Given the description of an element on the screen output the (x, y) to click on. 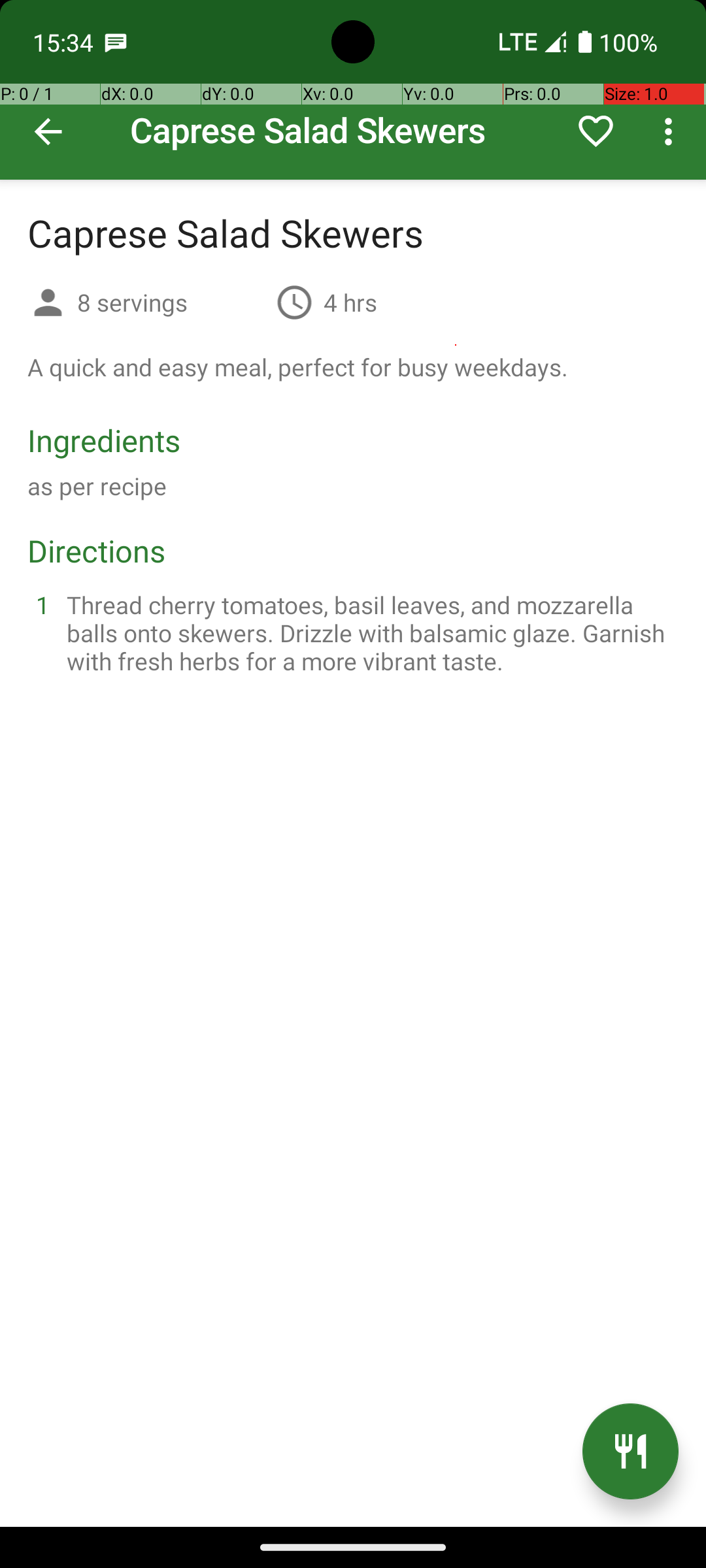
Thread cherry tomatoes, basil leaves, and mozzarella balls onto skewers. Drizzle with balsamic glaze. Garnish with fresh herbs for a more vibrant taste. Element type: android.widget.TextView (368, 632)
